Given the description of an element on the screen output the (x, y) to click on. 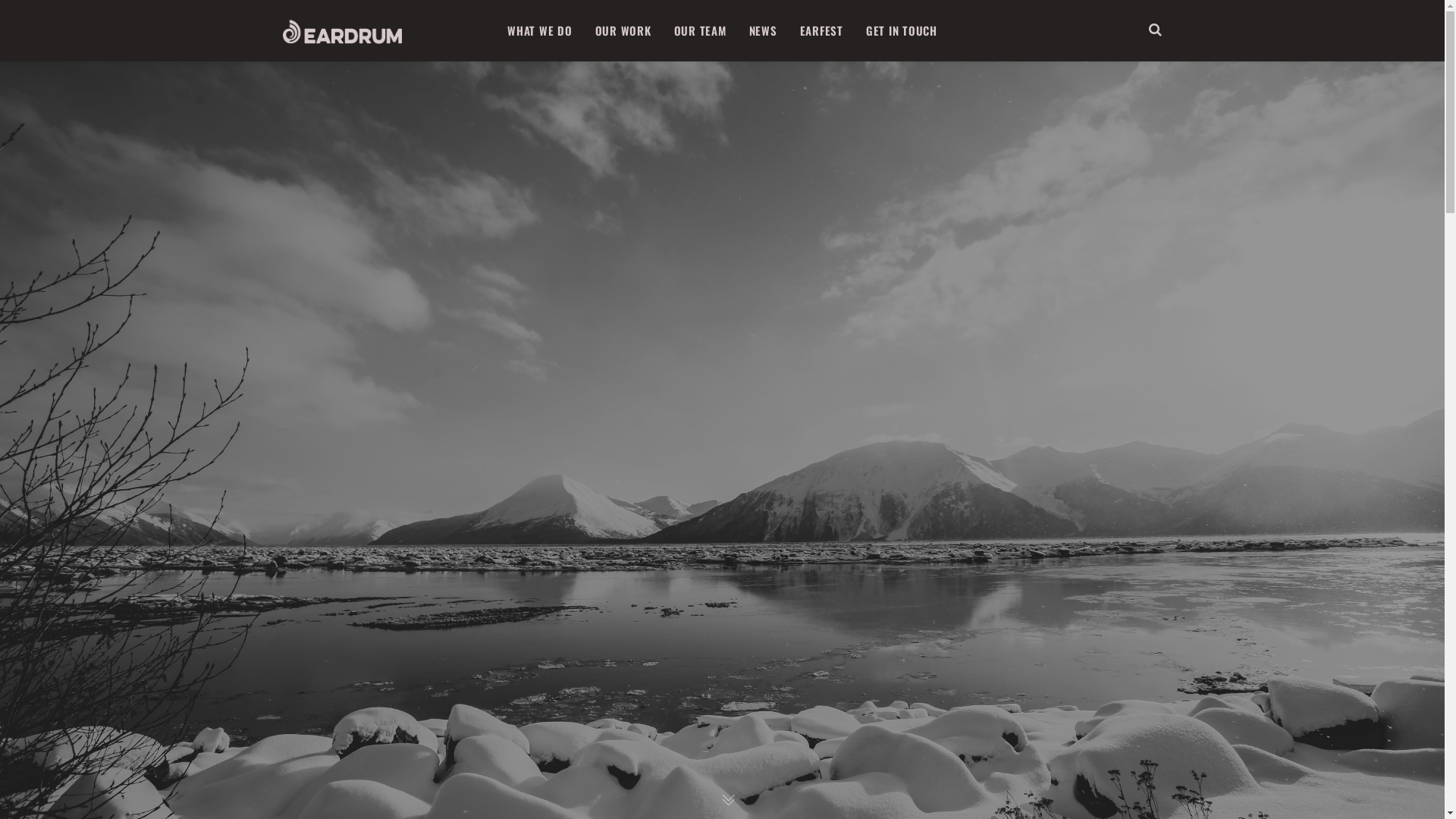
WHAT WE DO Element type: text (539, 30)
NEWS Element type: text (763, 30)
OUR TEAM Element type: text (700, 30)
GET IN TOUCH Element type: text (901, 30)
OUR WORK Element type: text (623, 30)
EARFEST Element type: text (821, 30)
